Given the description of an element on the screen output the (x, y) to click on. 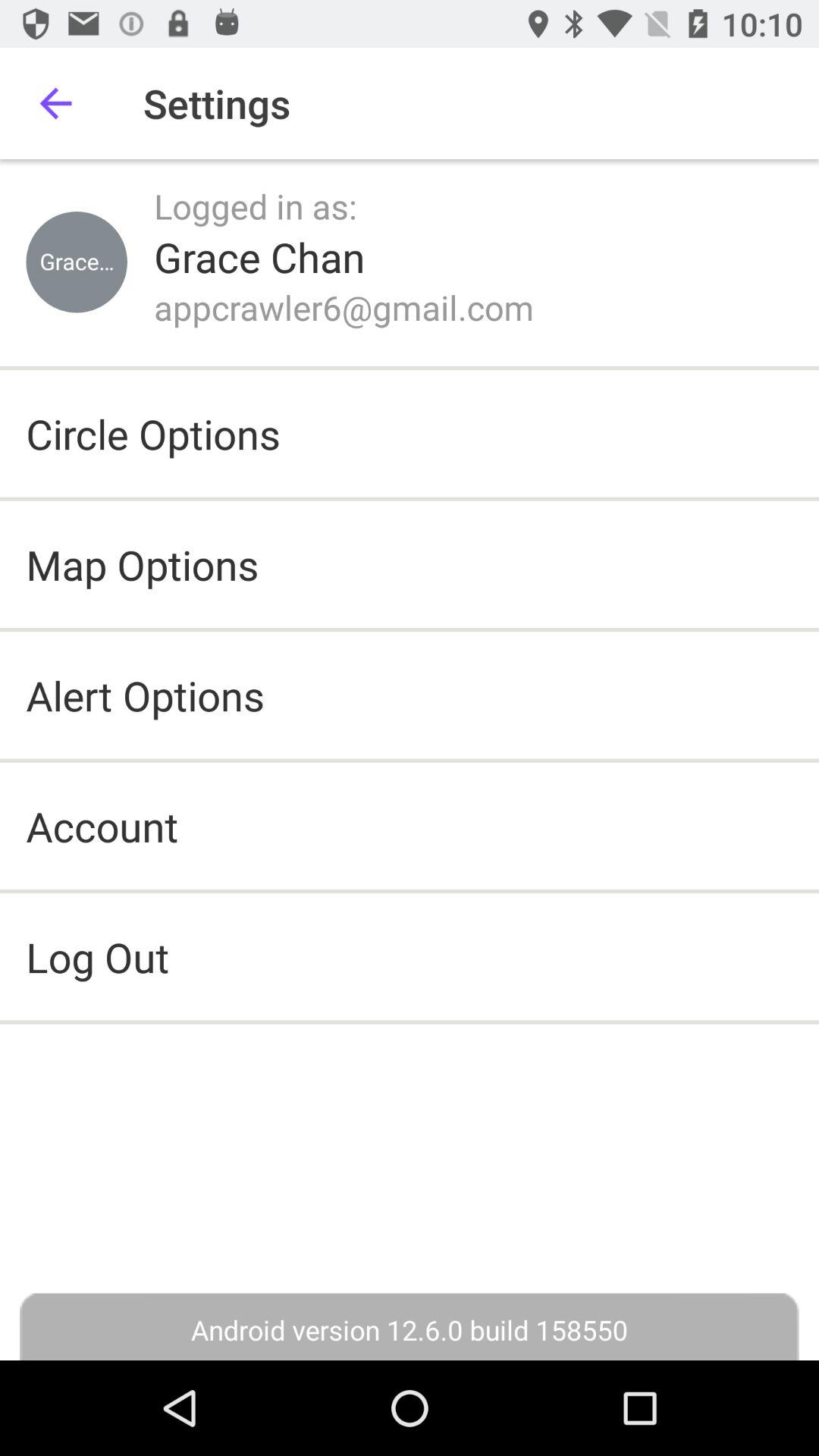
select the item below the settings icon (255, 206)
